Given the description of an element on the screen output the (x, y) to click on. 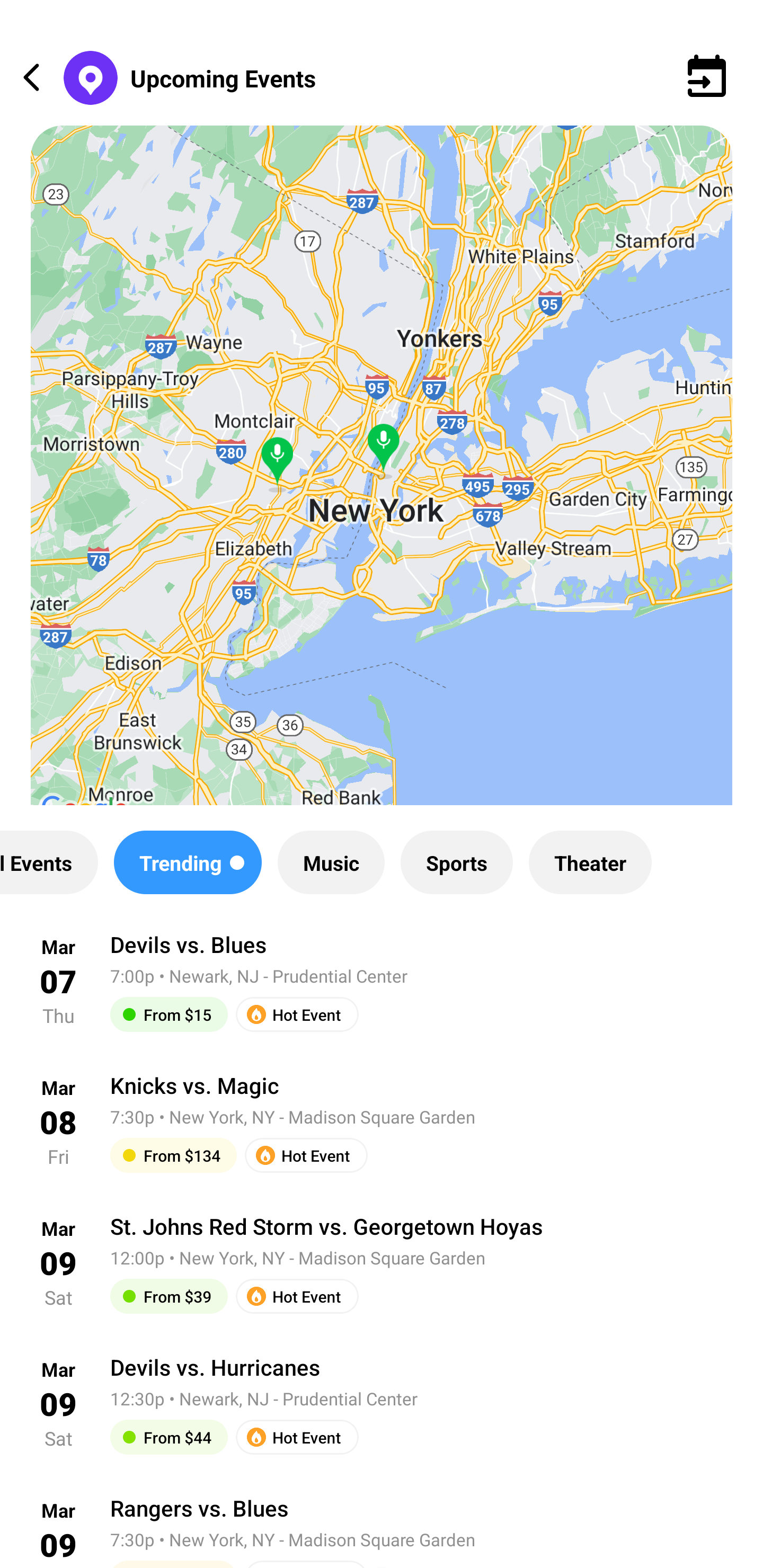
Google Map Map Marker Map Marker (381, 480)
Trending (187, 862)
Music (330, 862)
Sports (456, 862)
Theater (589, 862)
